Given the description of an element on the screen output the (x, y) to click on. 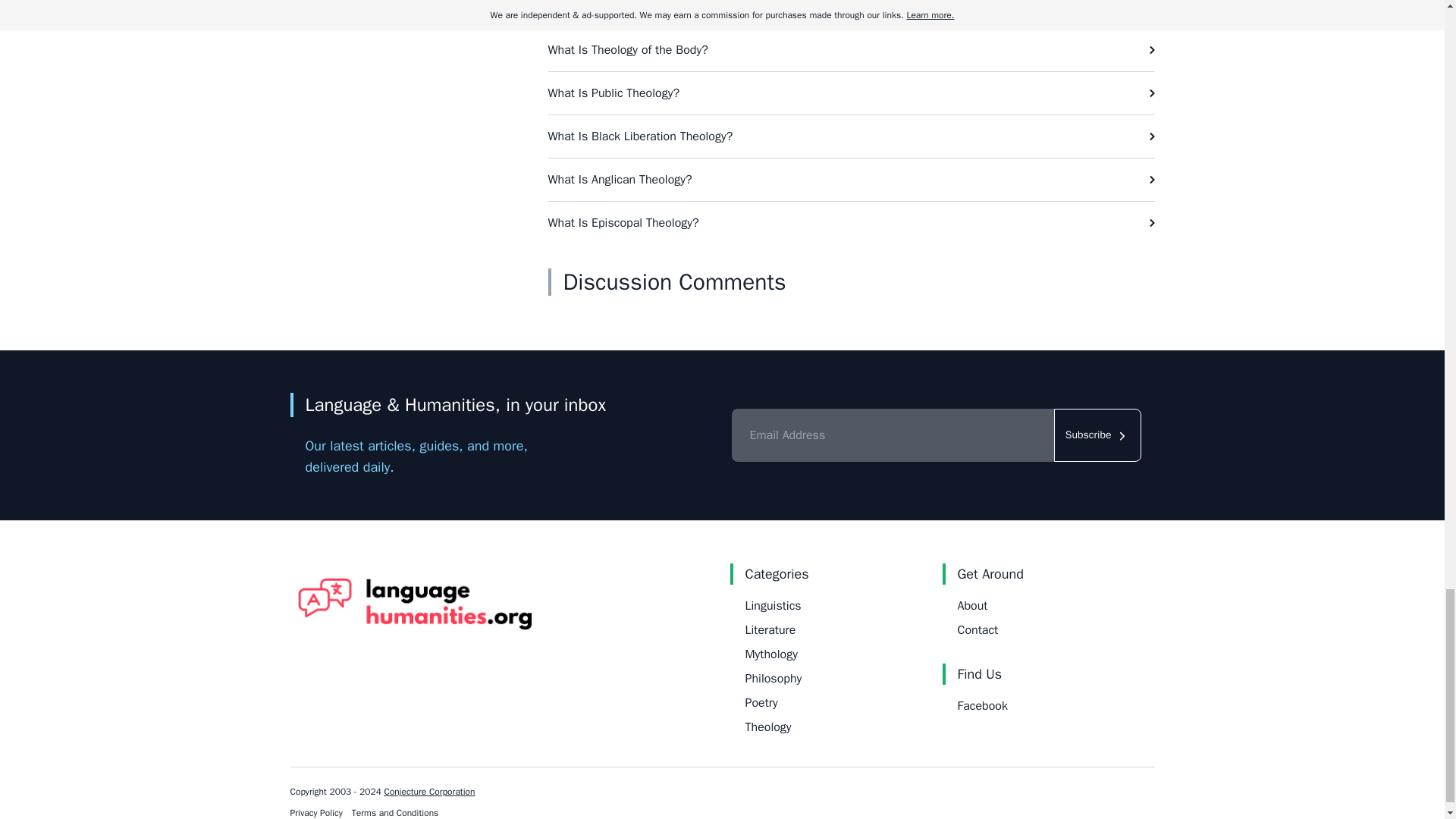
What Is Public Theology? (850, 93)
What Is Baptist Theology? (850, 13)
What Is Black Liberation Theology? (850, 136)
What Is Theology of the Body? (850, 49)
